Given the description of an element on the screen output the (x, y) to click on. 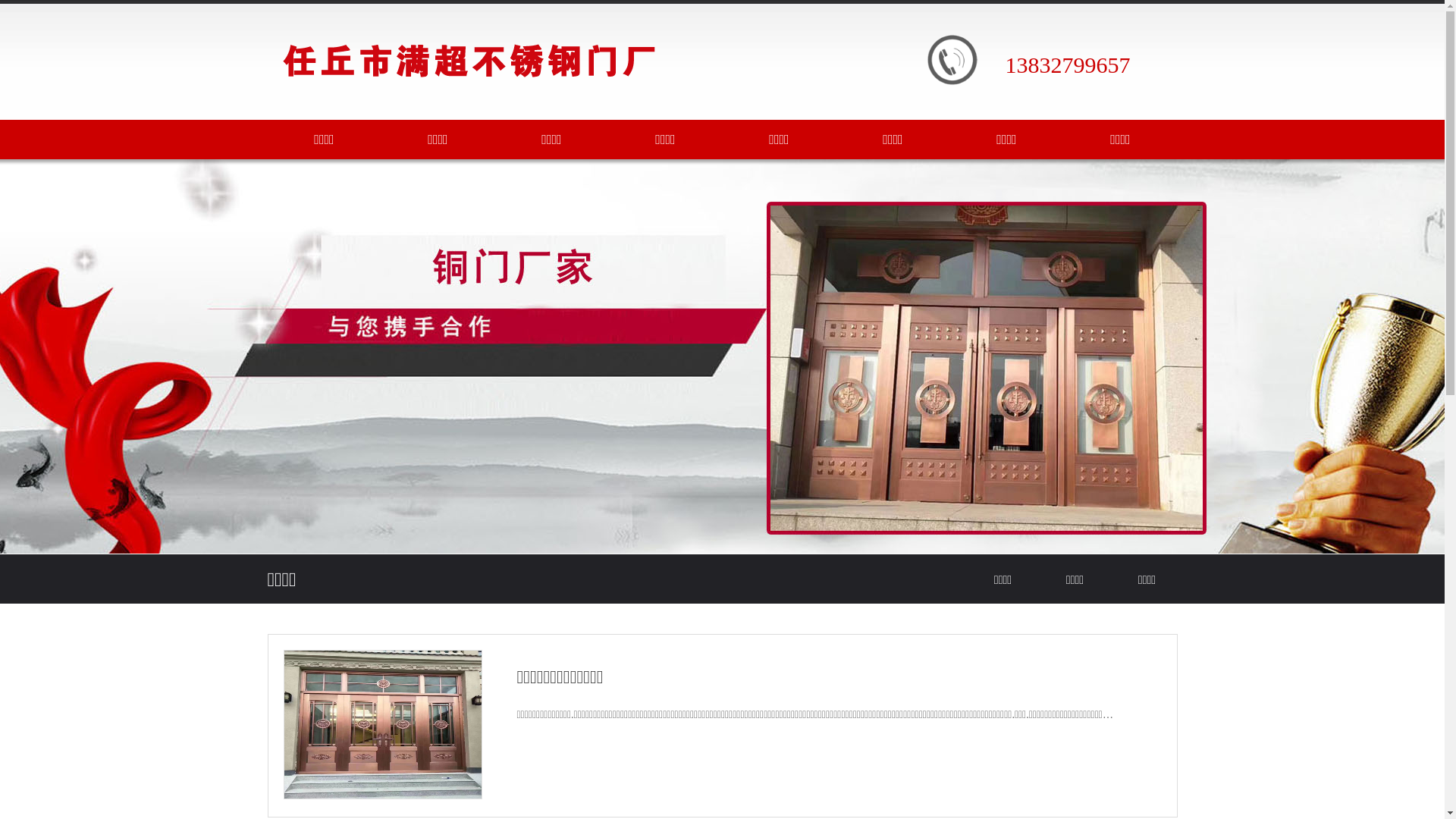
3 Element type: text (1187, 537)
1 Element type: text (1154, 537)
2 Element type: text (1171, 537)
